Given the description of an element on the screen output the (x, y) to click on. 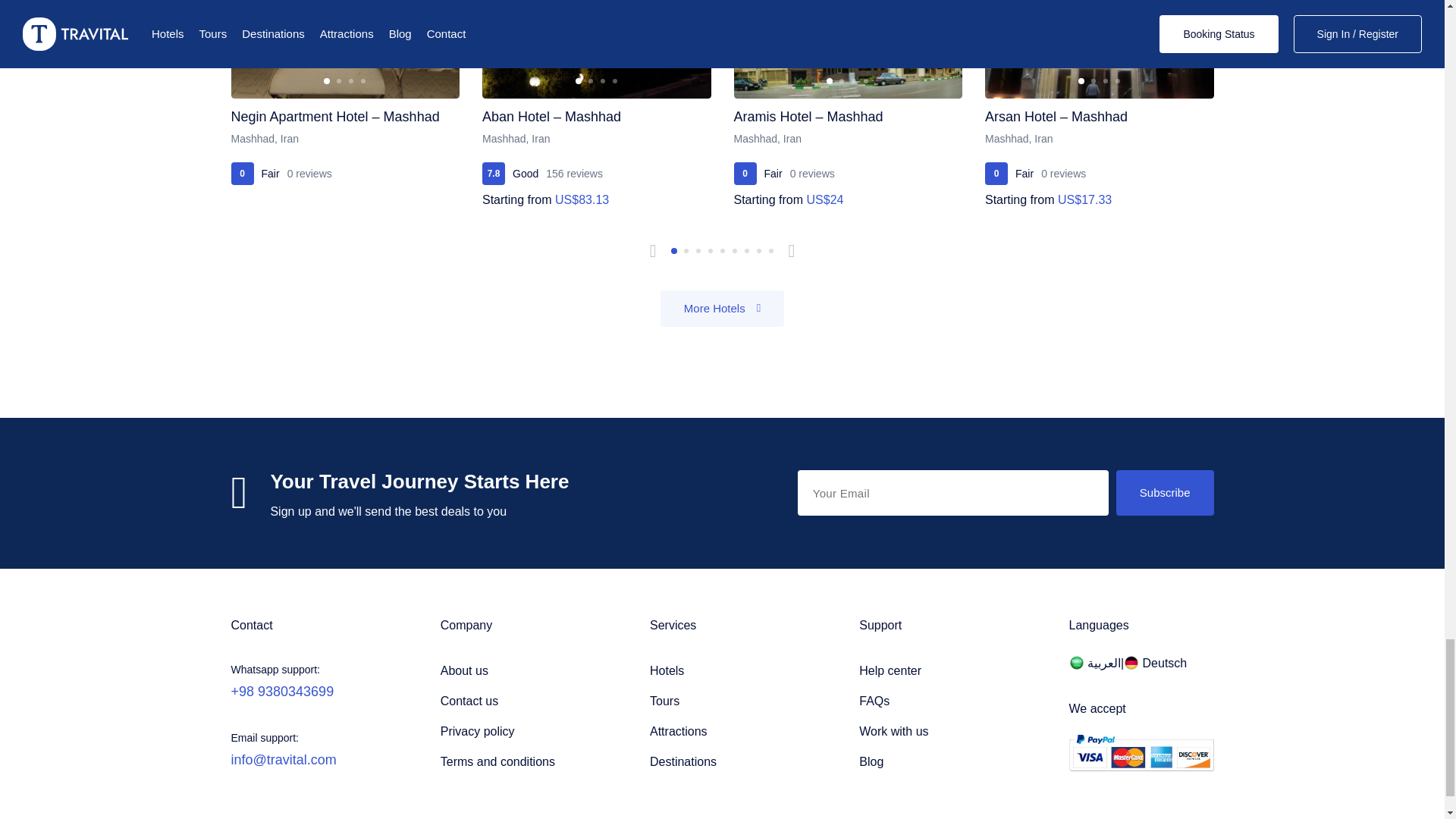
HOTELRESERVIERUNG IRAN (1155, 662)
